Given the description of an element on the screen output the (x, y) to click on. 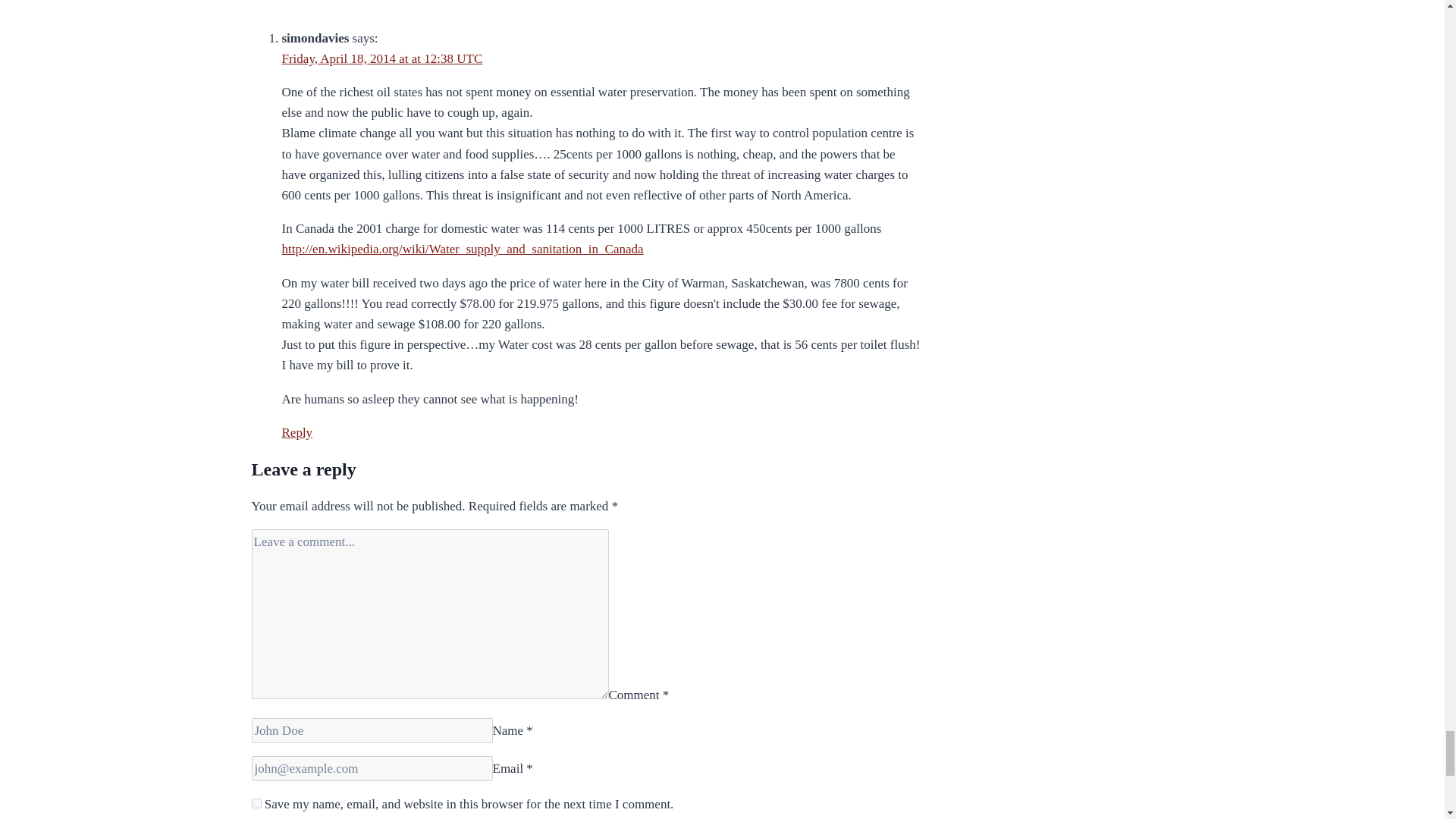
yes (256, 803)
